Given the description of an element on the screen output the (x, y) to click on. 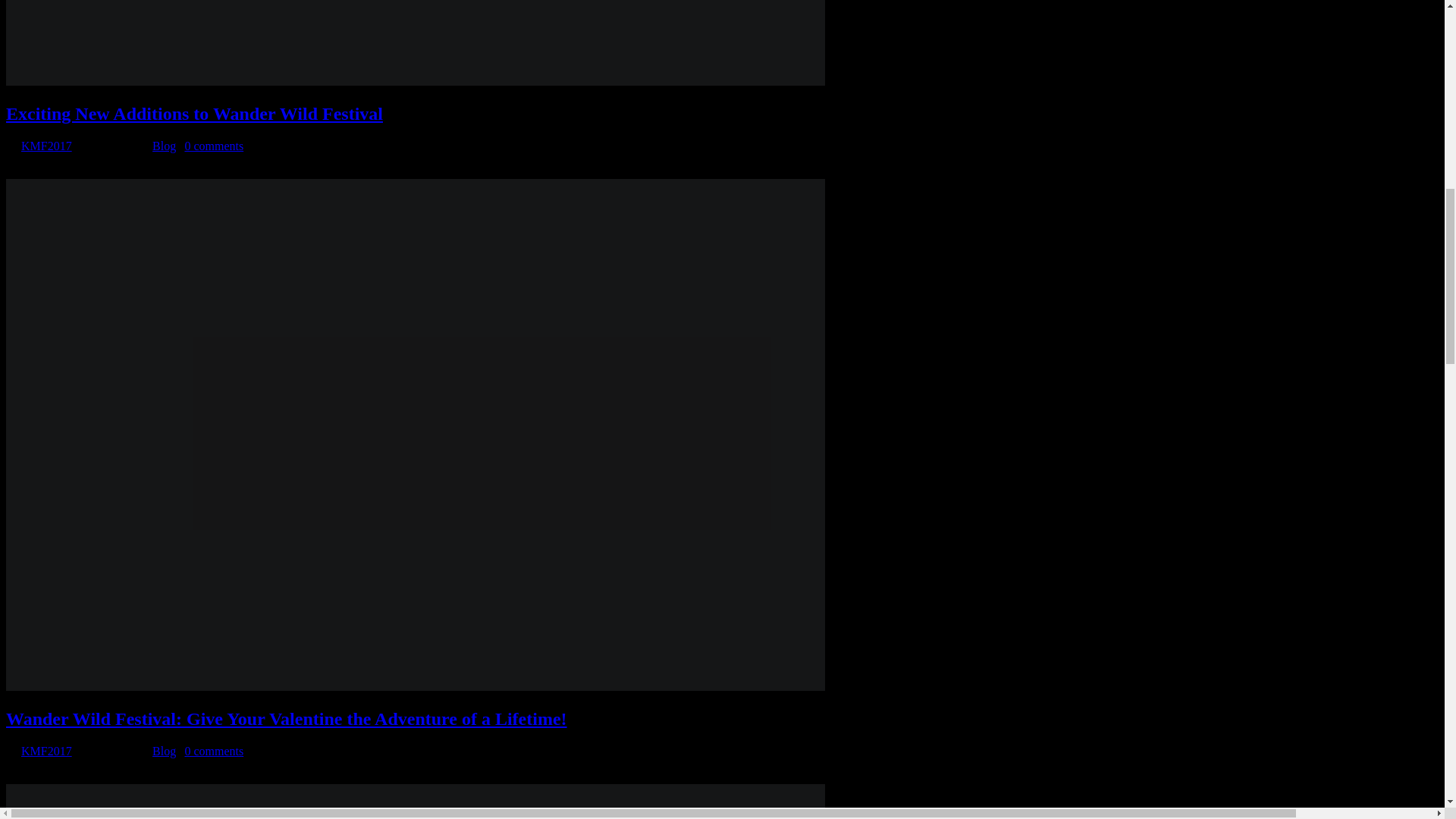
Exciting New Additions to Wander Wild Festival (193, 113)
KMF2017 (46, 750)
0 comments (213, 750)
Posts by KMF2017 (46, 750)
0 comments (213, 145)
KMF2017 (46, 145)
Posts by KMF2017 (46, 145)
Blog (164, 145)
Blog (164, 750)
